Given the description of an element on the screen output the (x, y) to click on. 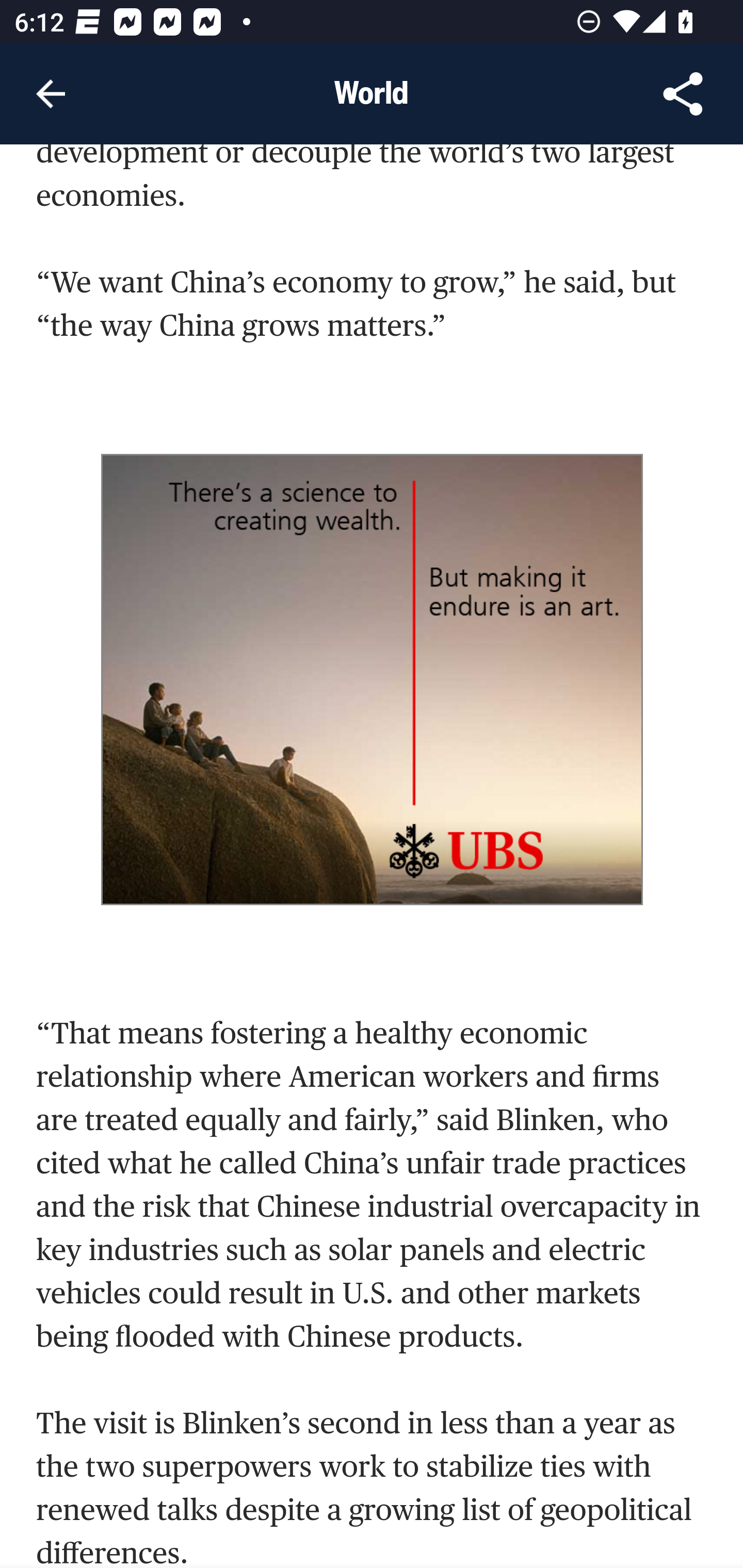
Navigate up (50, 93)
Share Article, button (683, 94)
